Given the description of an element on the screen output the (x, y) to click on. 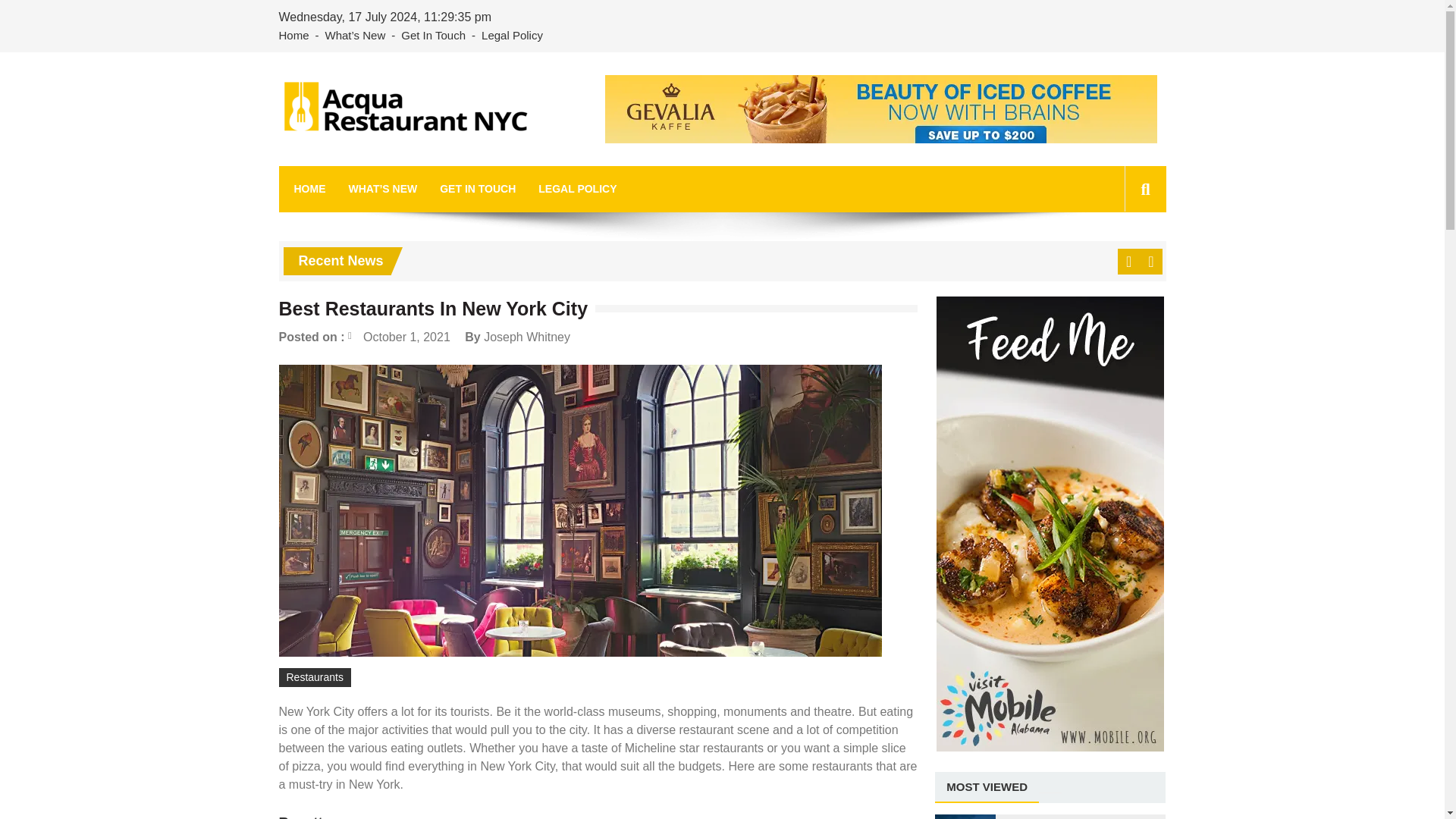
October 1, 2021 (398, 336)
Acqua Restaurant NYC (424, 157)
Get In Touch (432, 36)
HOME (310, 189)
MOST VIEWED (986, 787)
Restaurants (314, 677)
Home (297, 36)
LEGAL POLICY (576, 189)
Search (1120, 257)
Joseph Whitney (526, 336)
Legal Policy (512, 36)
Posts by Joseph Whitney (526, 336)
GET IN TOUCH (477, 189)
